Given the description of an element on the screen output the (x, y) to click on. 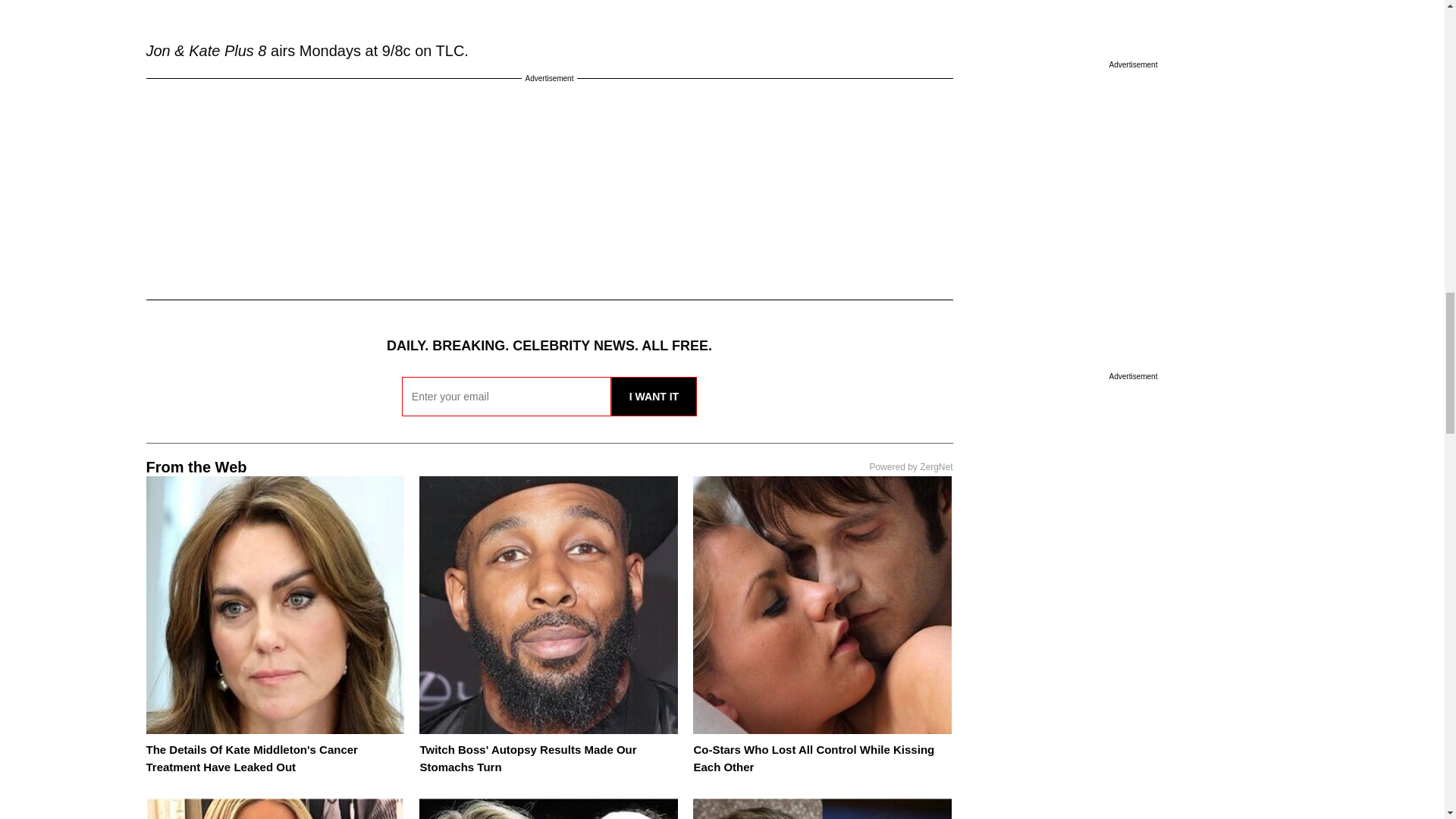
I WANT IT (654, 395)
Co-Stars Who Lost All Control While Kissing Each Other (813, 757)
Powered by ZergNet (910, 466)
Twitch Boss' Autopsy Results Made Our Stomachs Turn (527, 757)
I WANT IT (654, 395)
